Given the description of an element on the screen output the (x, y) to click on. 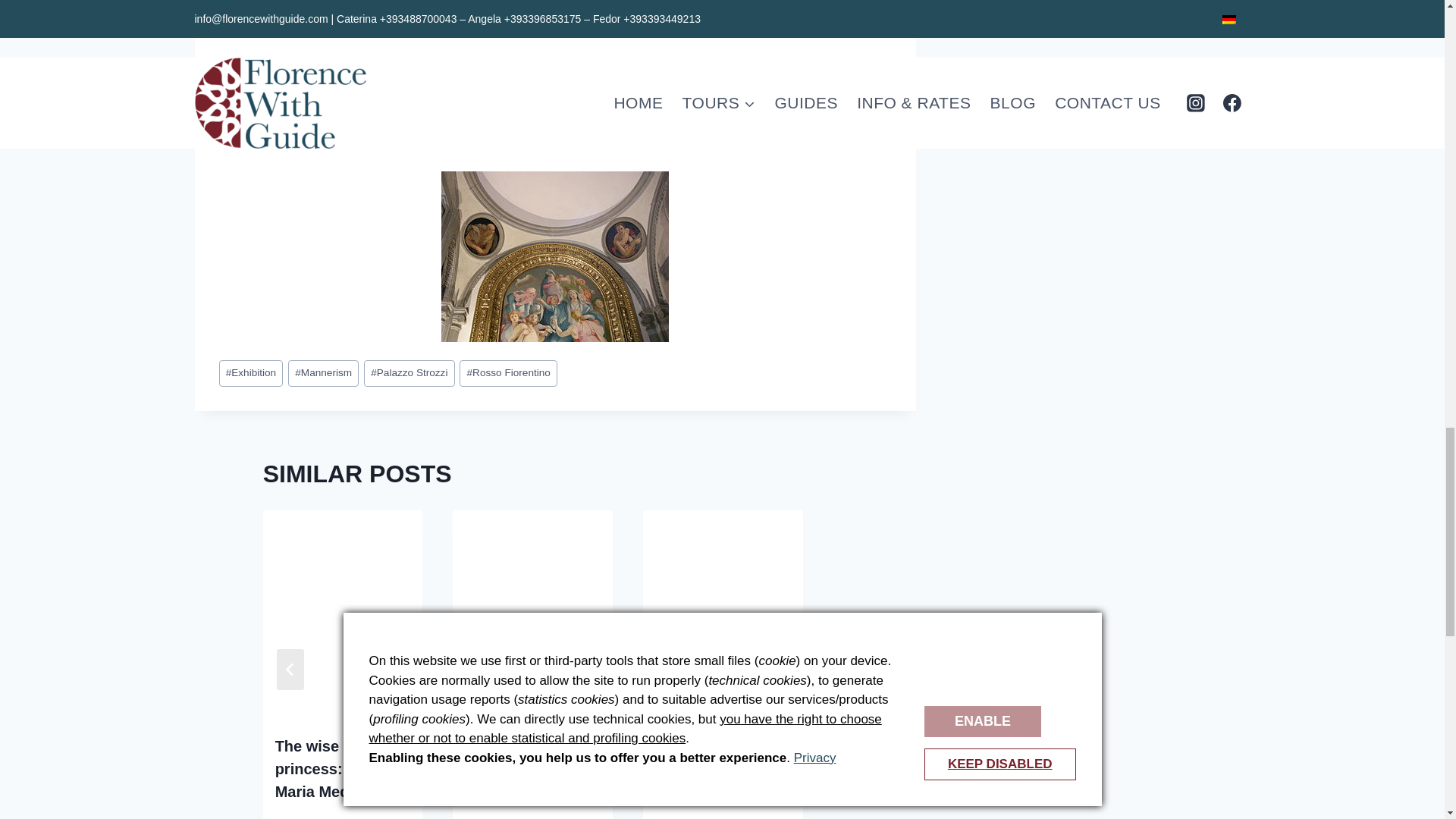
contact us (537, 95)
Exhibition (250, 373)
Mannerism (323, 373)
Rosso Fiorentino (508, 373)
The wise princess: Anna Maria Medici (329, 768)
Palazzo Strozzi (409, 373)
Palazzo Strozzi website (314, 29)
Contact Us (537, 95)
